Given the description of an element on the screen output the (x, y) to click on. 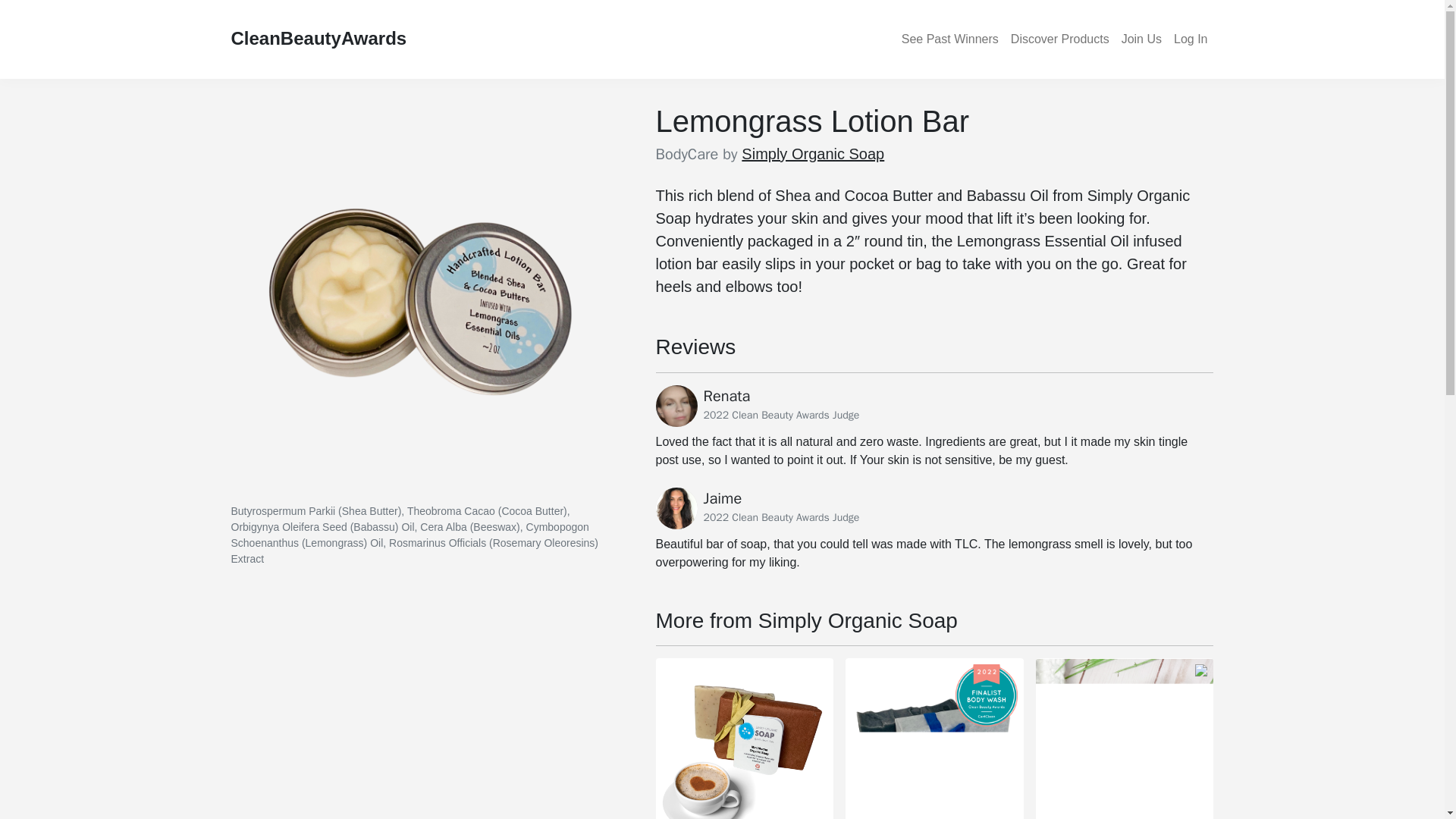
CleanBeautyAwards (318, 39)
Discover Products (1059, 39)
Join Us (1141, 39)
Simply Organic Soap (812, 153)
Log In (1189, 39)
See Past Winners (949, 39)
